Given the description of an element on the screen output the (x, y) to click on. 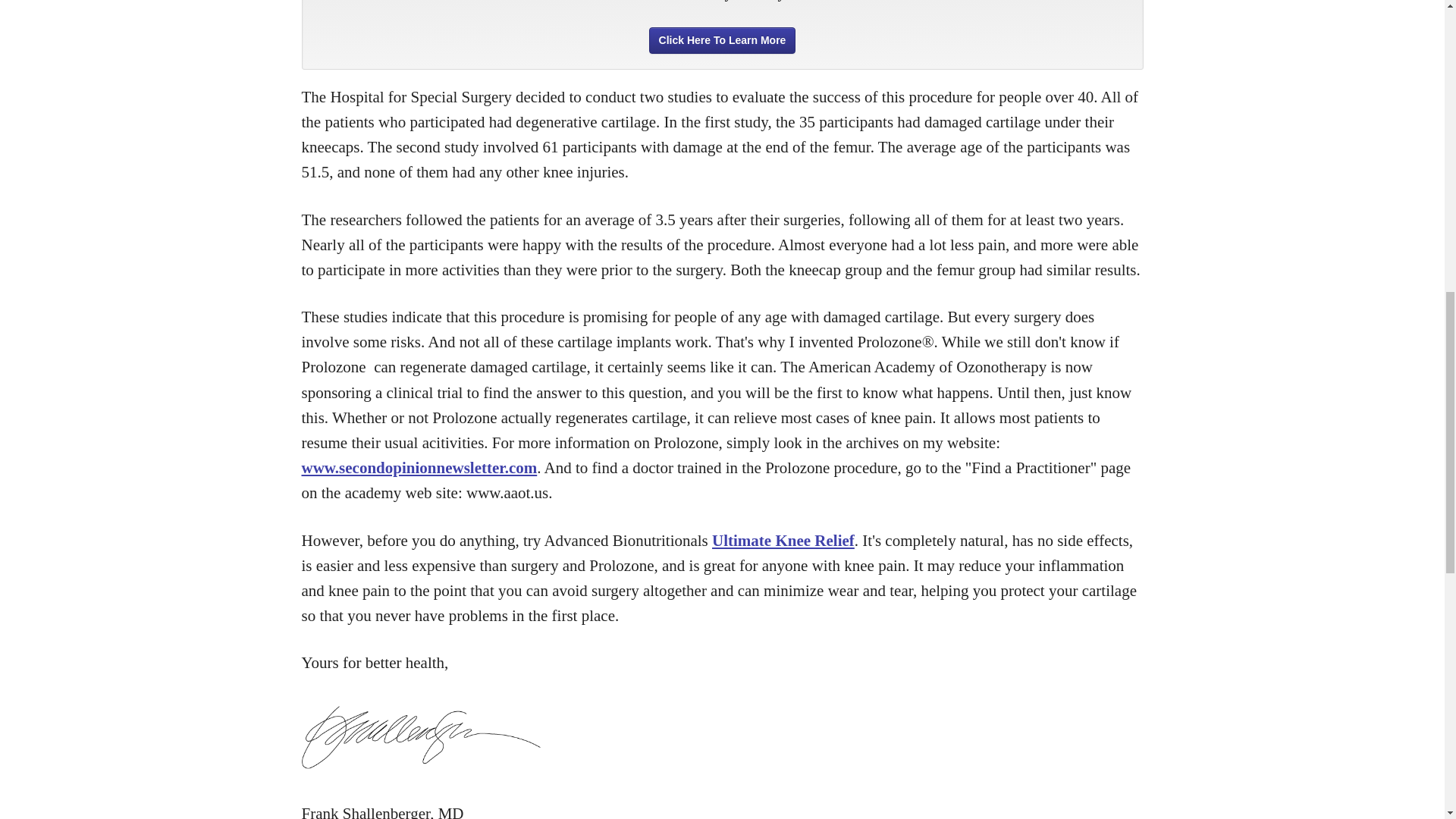
www.secondopinionnewsletter.com (419, 467)
Click Here To Learn More (722, 40)
Ultimate Knee Relief (782, 539)
